Given the description of an element on the screen output the (x, y) to click on. 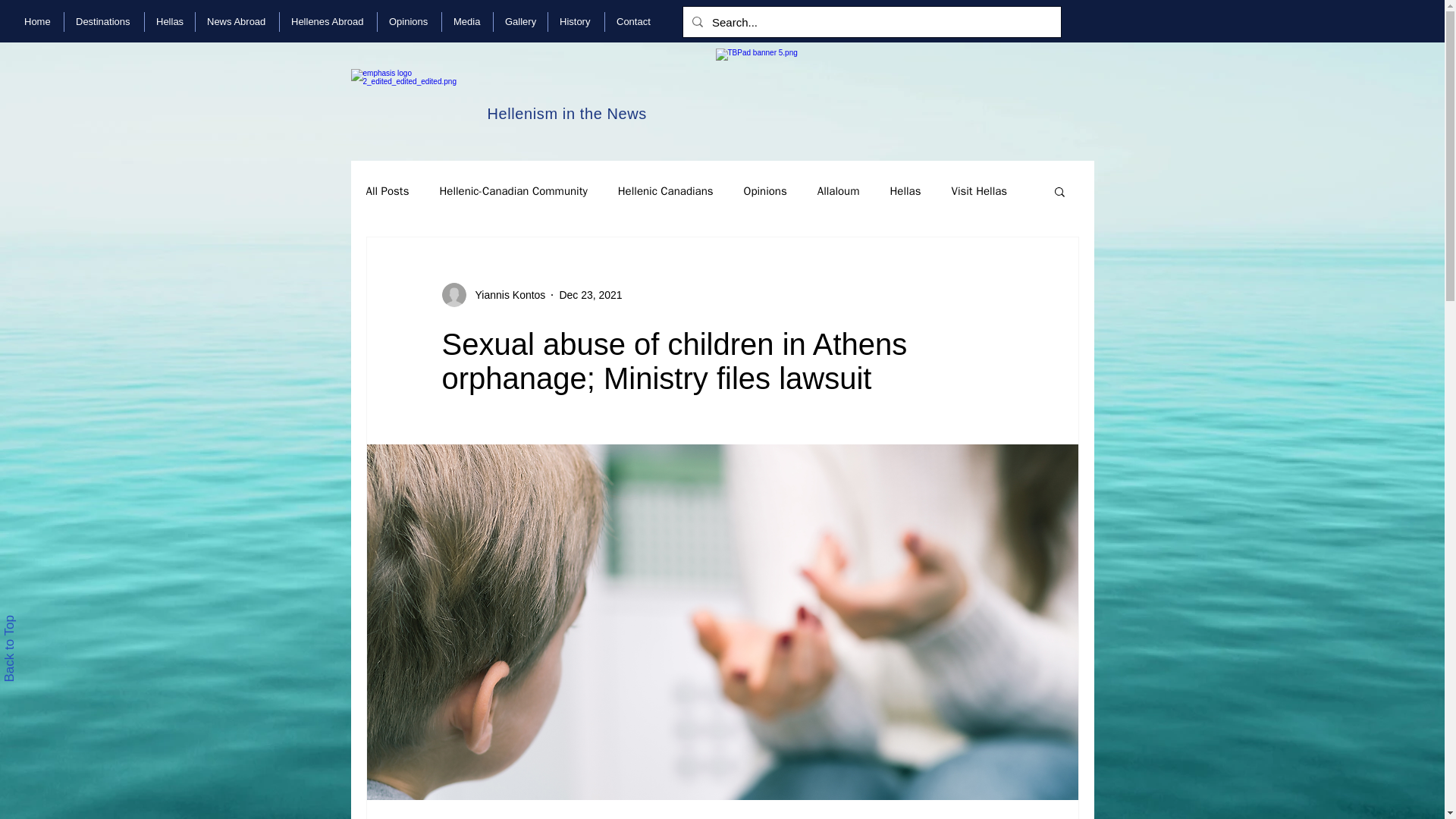
Home (38, 21)
All Posts (387, 190)
Contact (634, 21)
Hellenic-Canadian Community (512, 190)
Gallery (520, 21)
Media (467, 21)
Hellas (169, 21)
Opinions (409, 21)
Hellenes Abroad (328, 21)
History (576, 21)
